Given the description of an element on the screen output the (x, y) to click on. 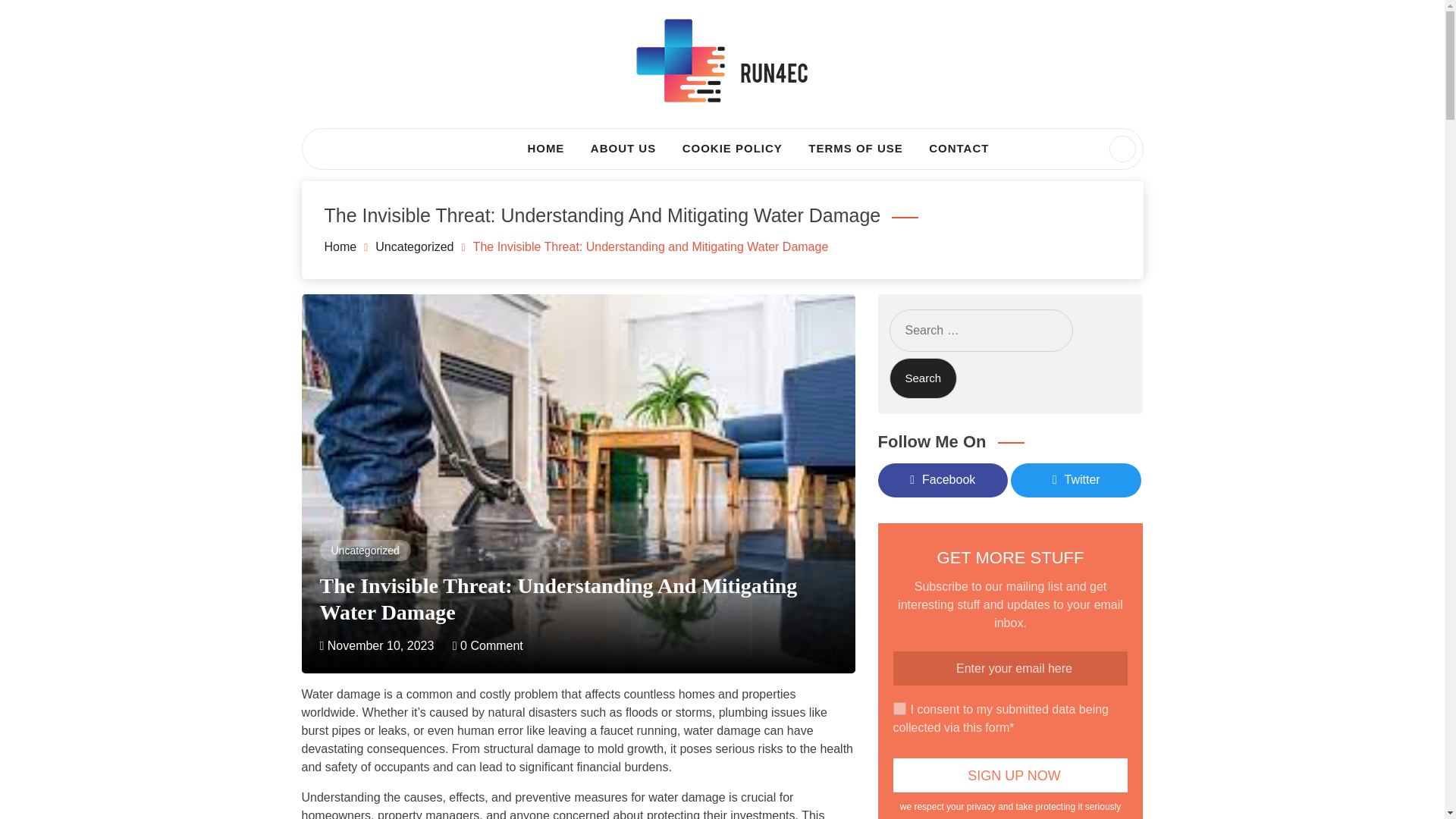
Uncategorized (364, 550)
Sign Up Now (1010, 775)
Uncategorized (413, 245)
Search (40, 18)
CONTACT (958, 148)
Home (340, 245)
TERMS OF USE (855, 148)
0 Comment (487, 644)
Search (922, 378)
